Given the description of an element on the screen output the (x, y) to click on. 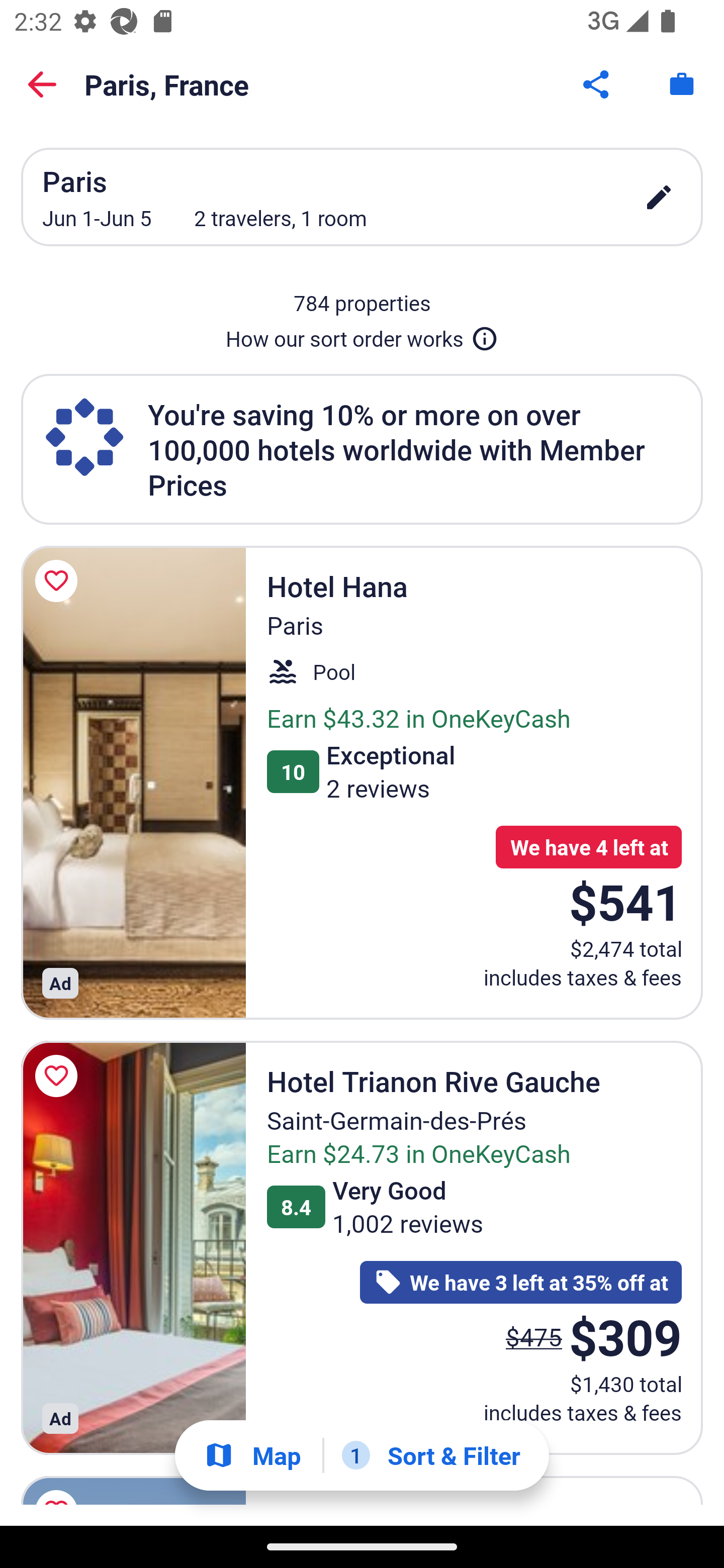
Back (42, 84)
Share Button (597, 84)
Trips. Button (681, 84)
Paris Jun 1-Jun 5 2 travelers, 1 room edit (361, 196)
How our sort order works (361, 334)
Save Hotel Hana to a trip (59, 580)
Hotel Hana (133, 782)
Save Hotel Trianon Rive Gauche to a trip (59, 1075)
Hotel Trianon Rive Gauche (133, 1248)
$475 The price was $475 (533, 1336)
1 Sort & Filter 1 Filter applied. Filters Button (430, 1455)
Show map Map Show map Button (252, 1455)
